Given the description of an element on the screen output the (x, y) to click on. 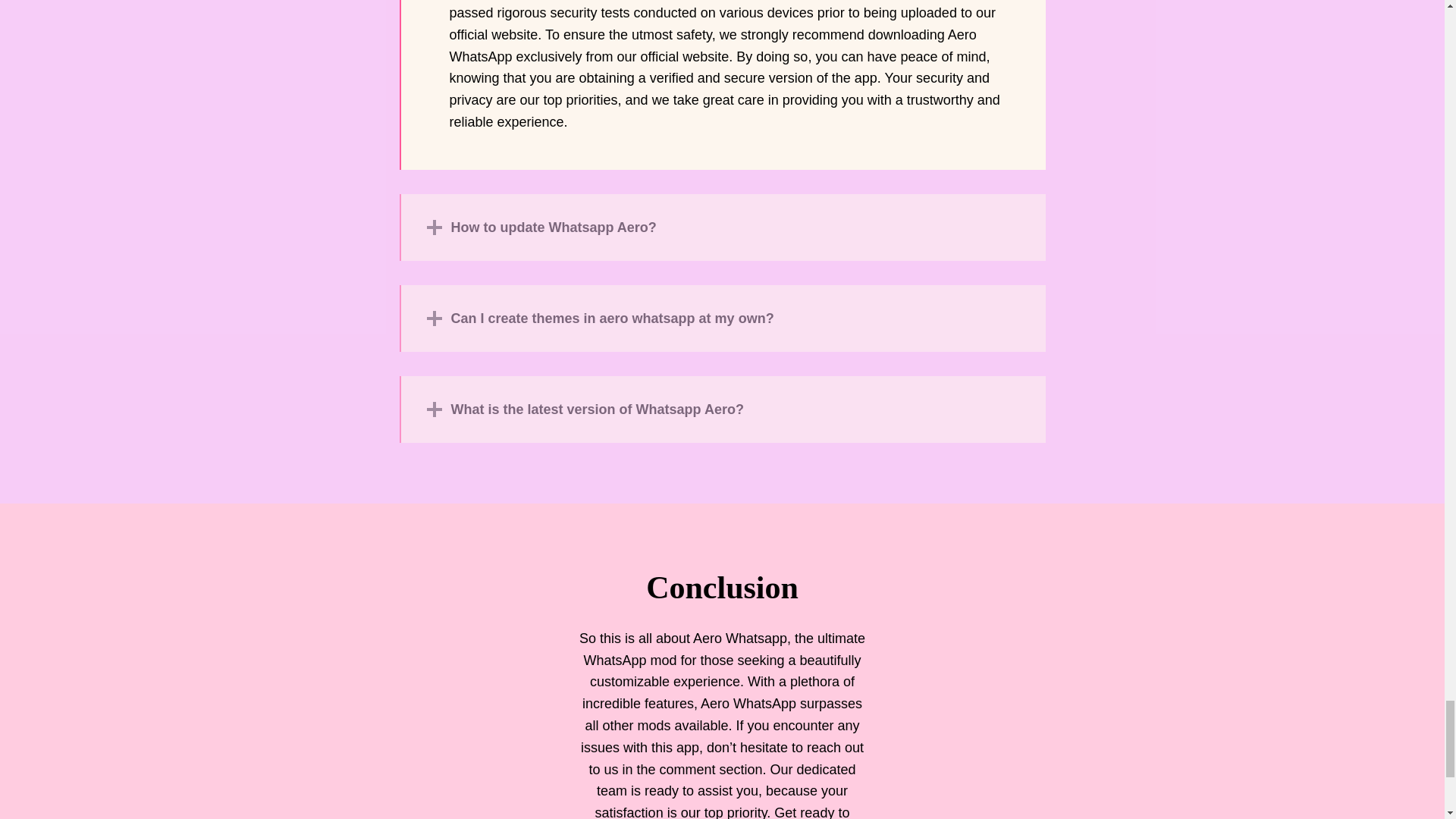
How to update Whatsapp Aero? (721, 227)
Can I create themes in aero whatsapp at my own? (721, 318)
What is the latest version of Whatsapp Aero? (721, 409)
